Given the description of an element on the screen output the (x, y) to click on. 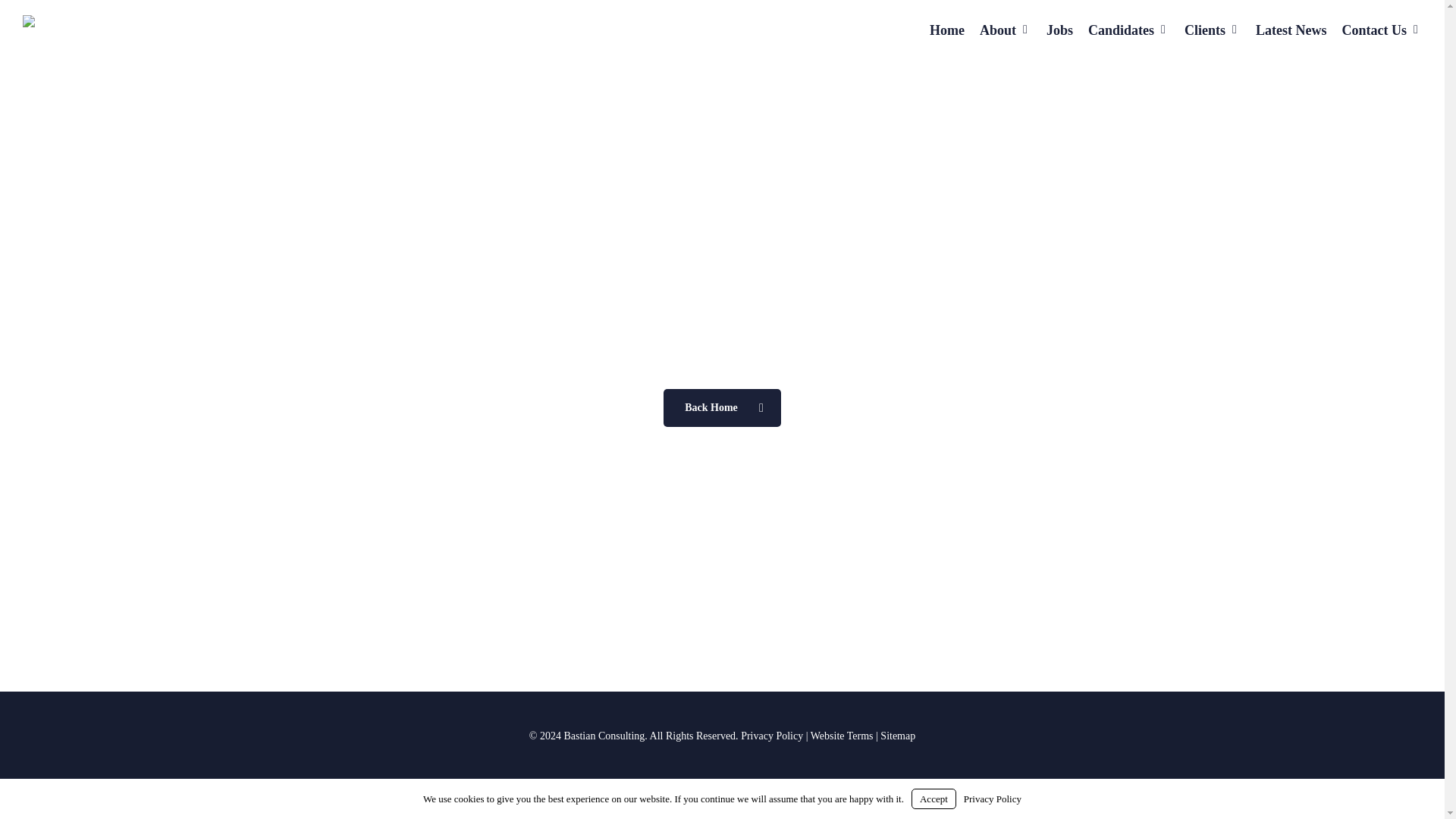
Candidates (1128, 30)
Clients (1212, 30)
About (1004, 30)
Privacy Policy (772, 736)
Sitemap (897, 736)
Contact Us (1382, 30)
Website Terms (841, 736)
Latest News (1290, 29)
Home (946, 29)
Recsites (754, 788)
Back Home (721, 406)
Jobs (1059, 29)
